Given the description of an element on the screen output the (x, y) to click on. 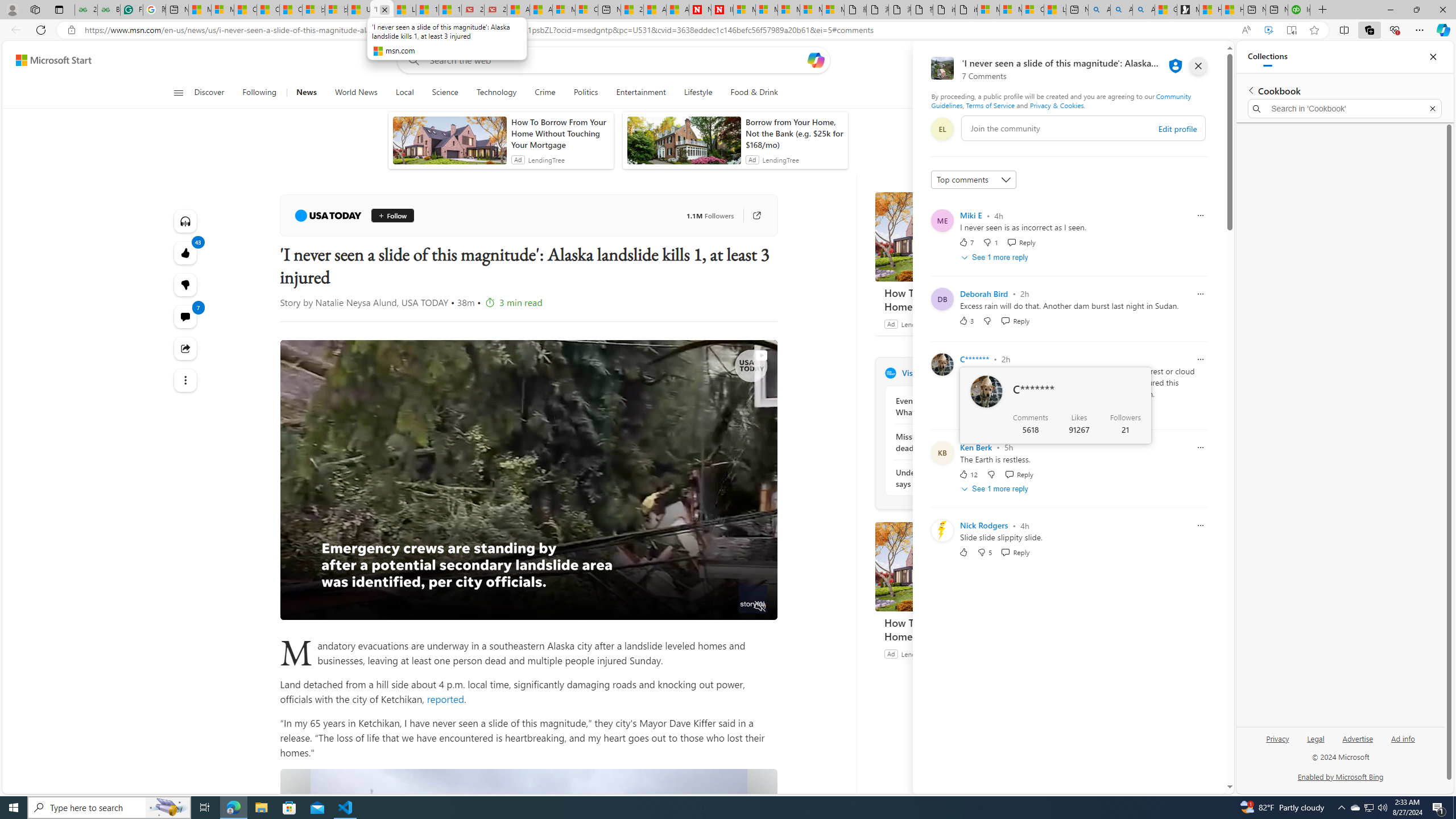
comment-box (1082, 127)
Profile Picture (941, 530)
Go to publisher's site (751, 215)
Deborah Bird (984, 293)
Reply Reply Comment (1015, 552)
Search in 'Cookbook' (1345, 108)
Privacy & Cookies (1056, 104)
Lifestyle - MSN (404, 9)
